Given the description of an element on the screen output the (x, y) to click on. 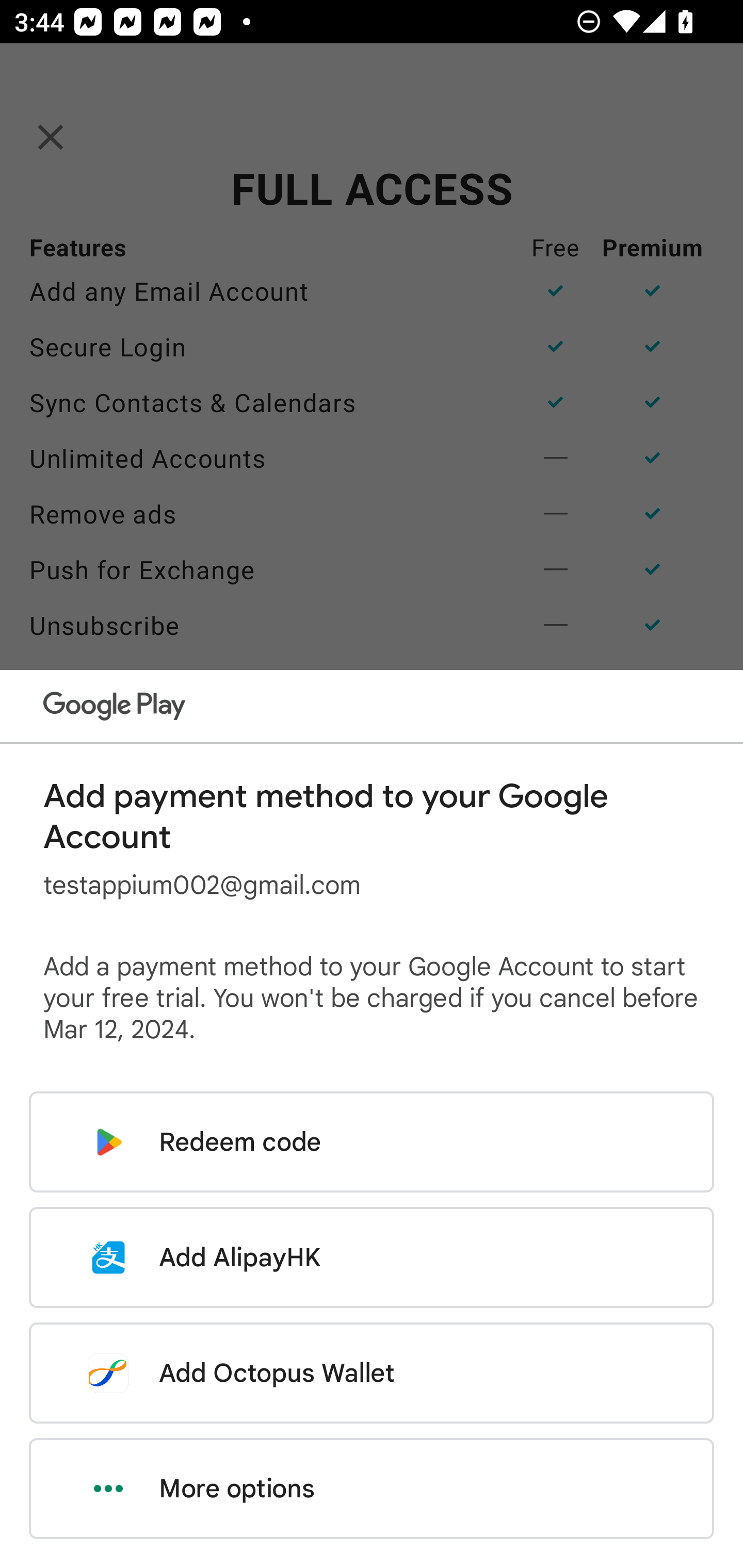
Redeem code (371, 1142)
Add AlipayHK (371, 1257)
Add Octopus Wallet (371, 1372)
More options (371, 1488)
